Given the description of an element on the screen output the (x, y) to click on. 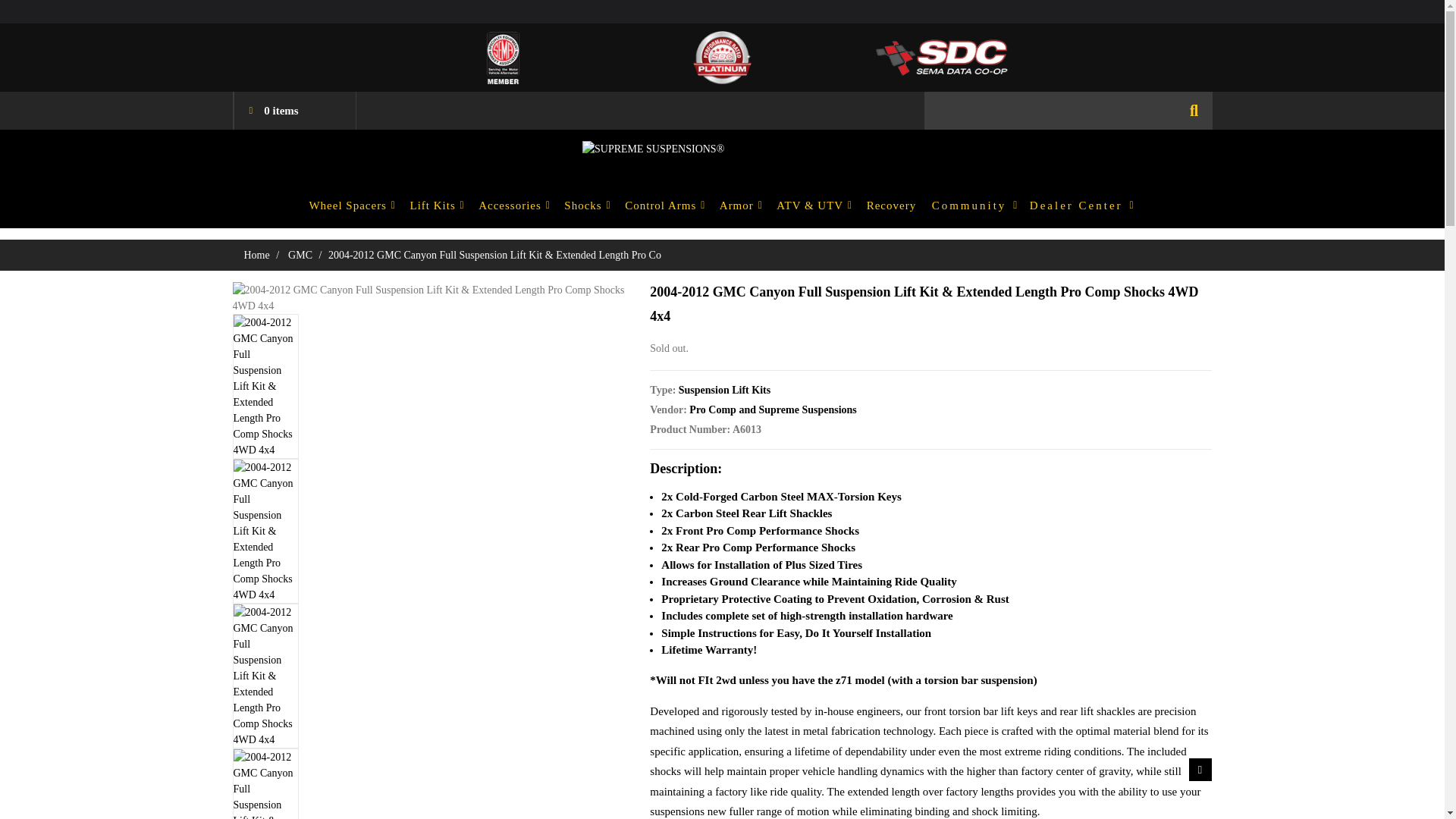
0 items (293, 110)
Back to the frontpage (256, 255)
Wheel Spacers (350, 205)
Pro Comp and Supreme Suspensions (772, 409)
Lift Kits (435, 205)
Suspension Lift Kits (724, 389)
Accessories (512, 205)
